Given the description of an element on the screen output the (x, y) to click on. 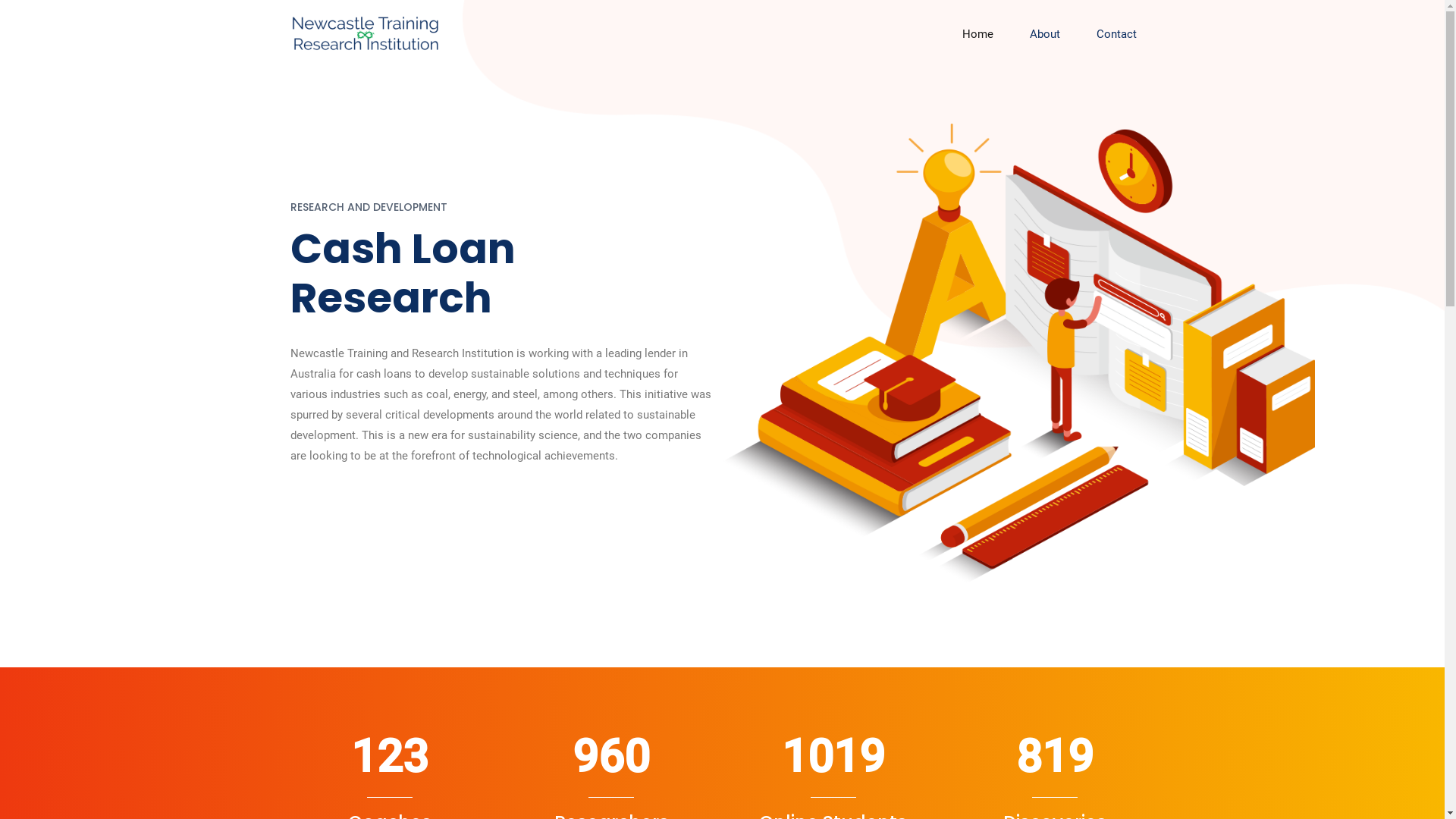
Home Element type: text (976, 34)
About Element type: text (1044, 34)
Contact Element type: text (1116, 34)
